Given the description of an element on the screen output the (x, y) to click on. 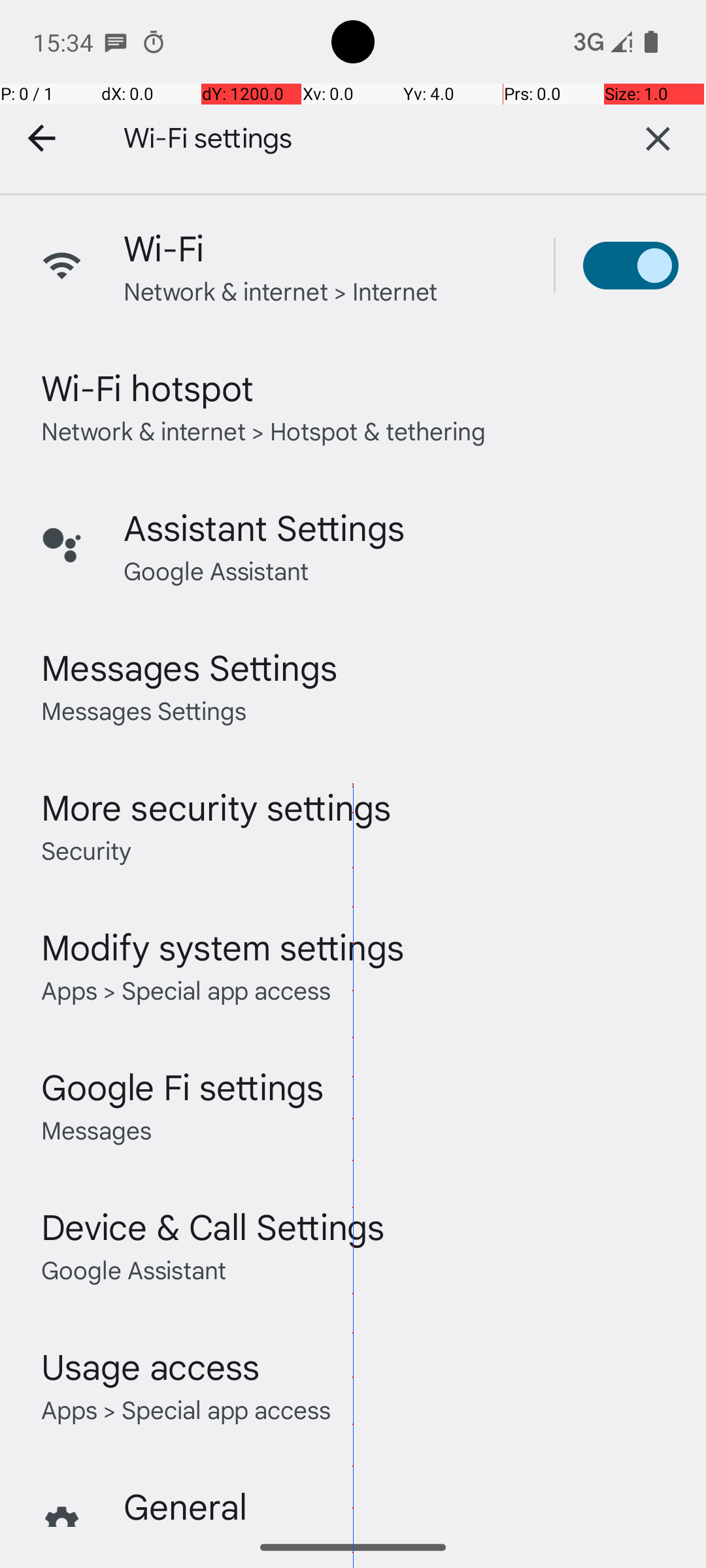
Wi-Fi settings Element type: android.widget.EditText (345, 138)
Network & internet > Internet Element type: android.widget.TextView (280, 289)
Assistant Settings Element type: android.widget.TextView (263, 526)
Google Assistant Element type: android.widget.TextView (215, 569)
Messages Settings Element type: android.widget.TextView (189, 666)
Modify system settings Element type: android.widget.TextView (222, 945)
Apps > Special app access Element type: android.widget.TextView (185, 988)
Google Fi settings Element type: android.widget.TextView (182, 1085)
Device & Call Settings Element type: android.widget.TextView (213, 1225)
Usage access Element type: android.widget.TextView (150, 1365)
